Given the description of an element on the screen output the (x, y) to click on. 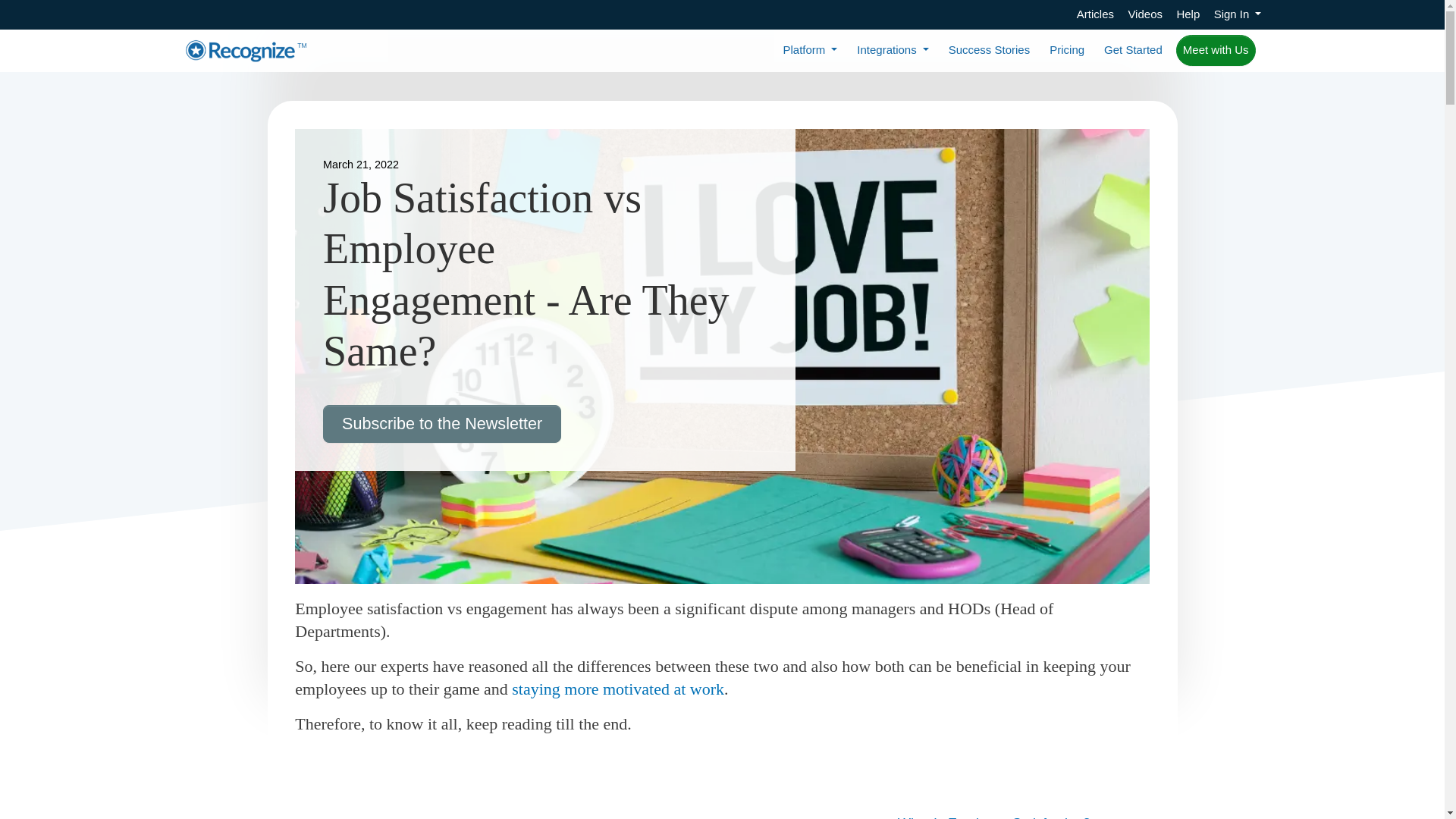
Help (1187, 13)
Sign In (1238, 14)
Platform (809, 49)
Articles (1095, 13)
TM (246, 50)
Videos (1143, 13)
What Is Employee Satisfaction? (1008, 815)
Integrations (892, 49)
